Given the description of an element on the screen output the (x, y) to click on. 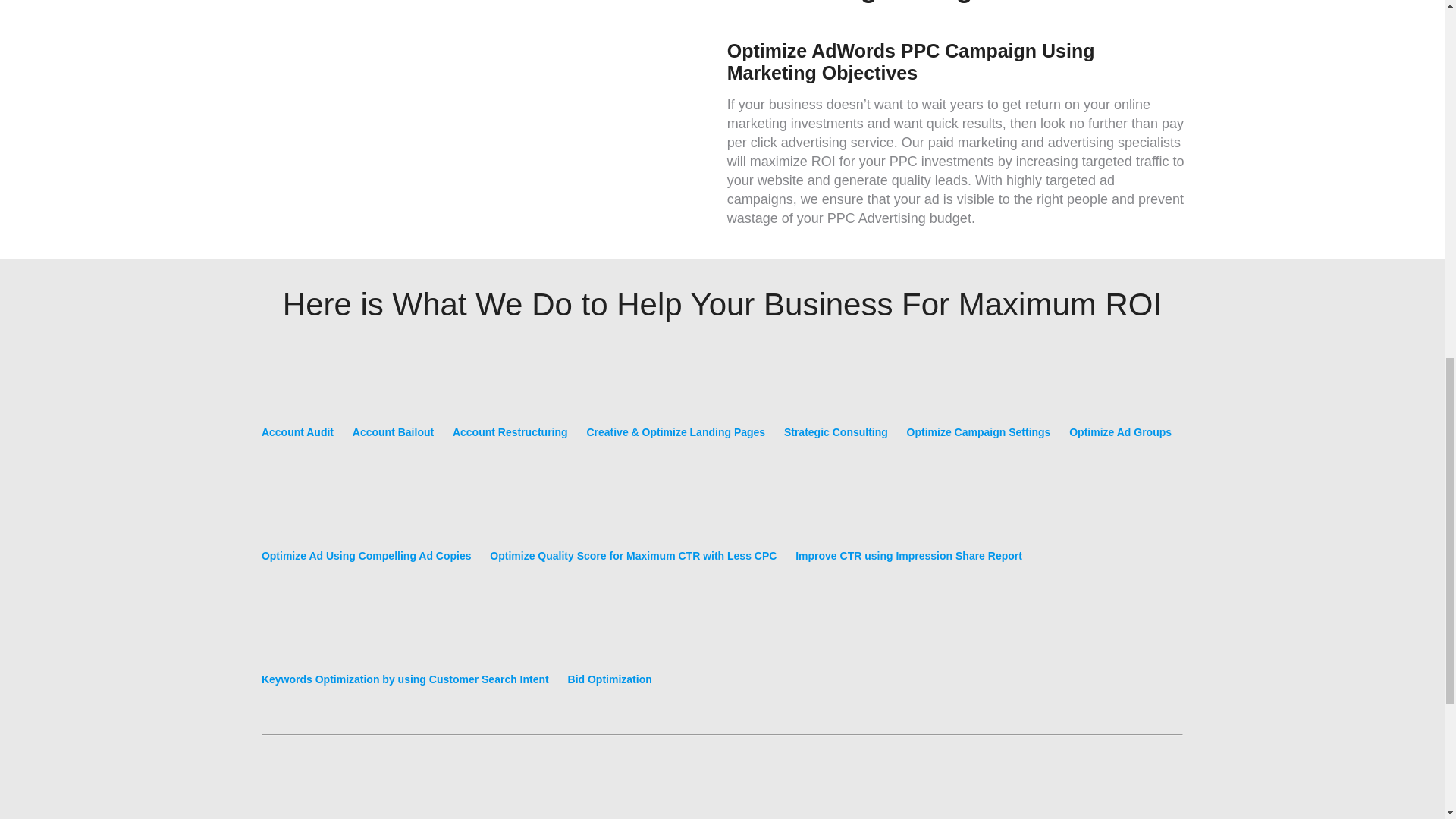
Bid Optimization (609, 649)
Optimize Campaign Settings (979, 402)
Retargeting (291, 792)
Optimize Ad Groups (1120, 402)
Strategic Consulting (836, 402)
Account Restructuring (509, 402)
Optimize Ad Extensions (604, 792)
Keywords Optimization by using Customer Search Intent (405, 649)
Optimize Ad Using Compelling Ad Copies (366, 525)
Age Range Targeting (974, 792)
Account Audit (297, 402)
Optimize Quality Score for Maximum CTR with Less CPC (632, 525)
Account Bailout (392, 402)
Improve CTR using Impression Share Report (908, 525)
Audience Targeting with Specific Locations (792, 792)
